Given the description of an element on the screen output the (x, y) to click on. 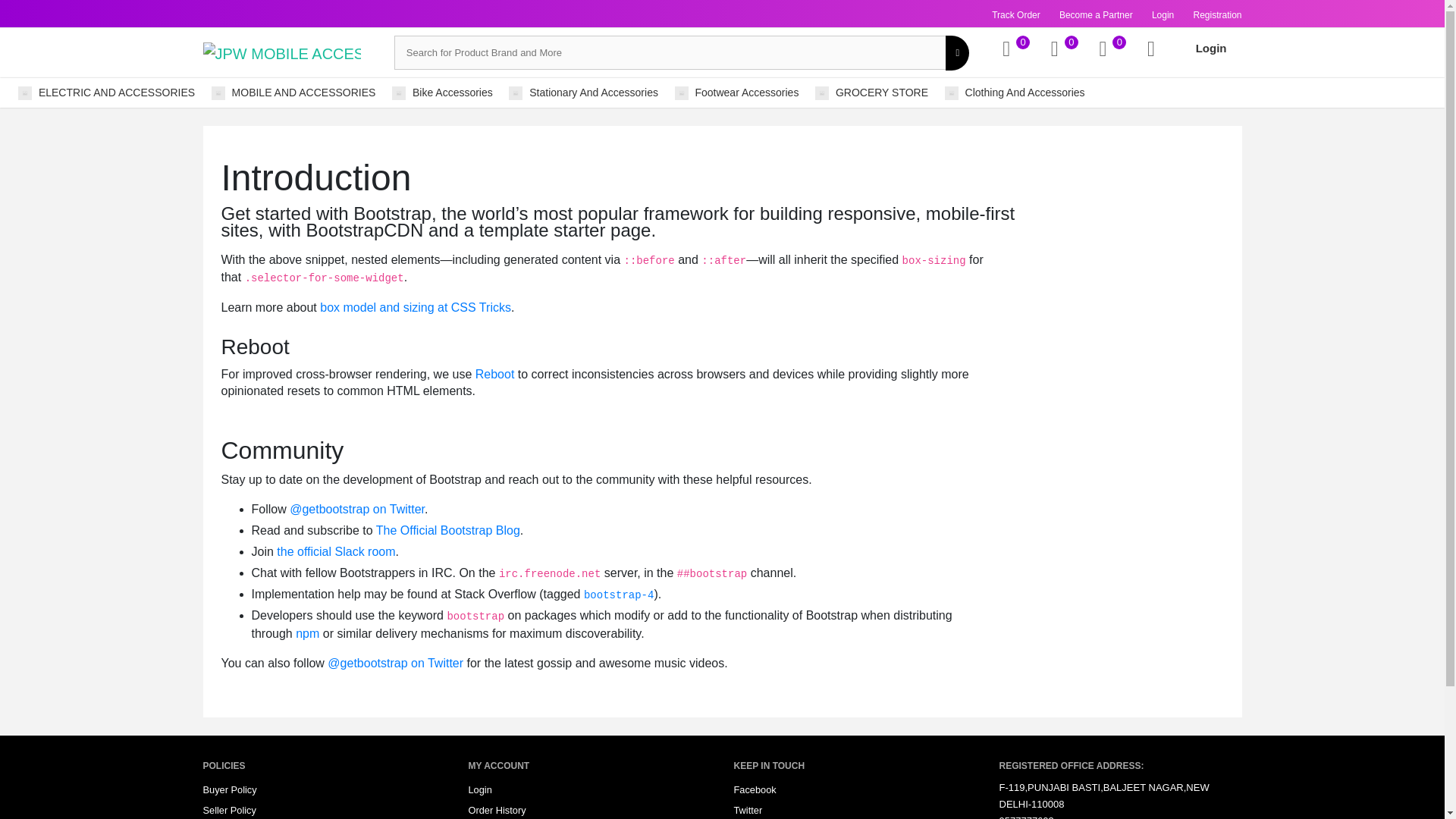
Track Order (1016, 15)
Login (1162, 15)
Login (1211, 48)
Registration (1216, 15)
Login (480, 789)
Become a Partner (1095, 15)
Order History (496, 809)
